Given the description of an element on the screen output the (x, y) to click on. 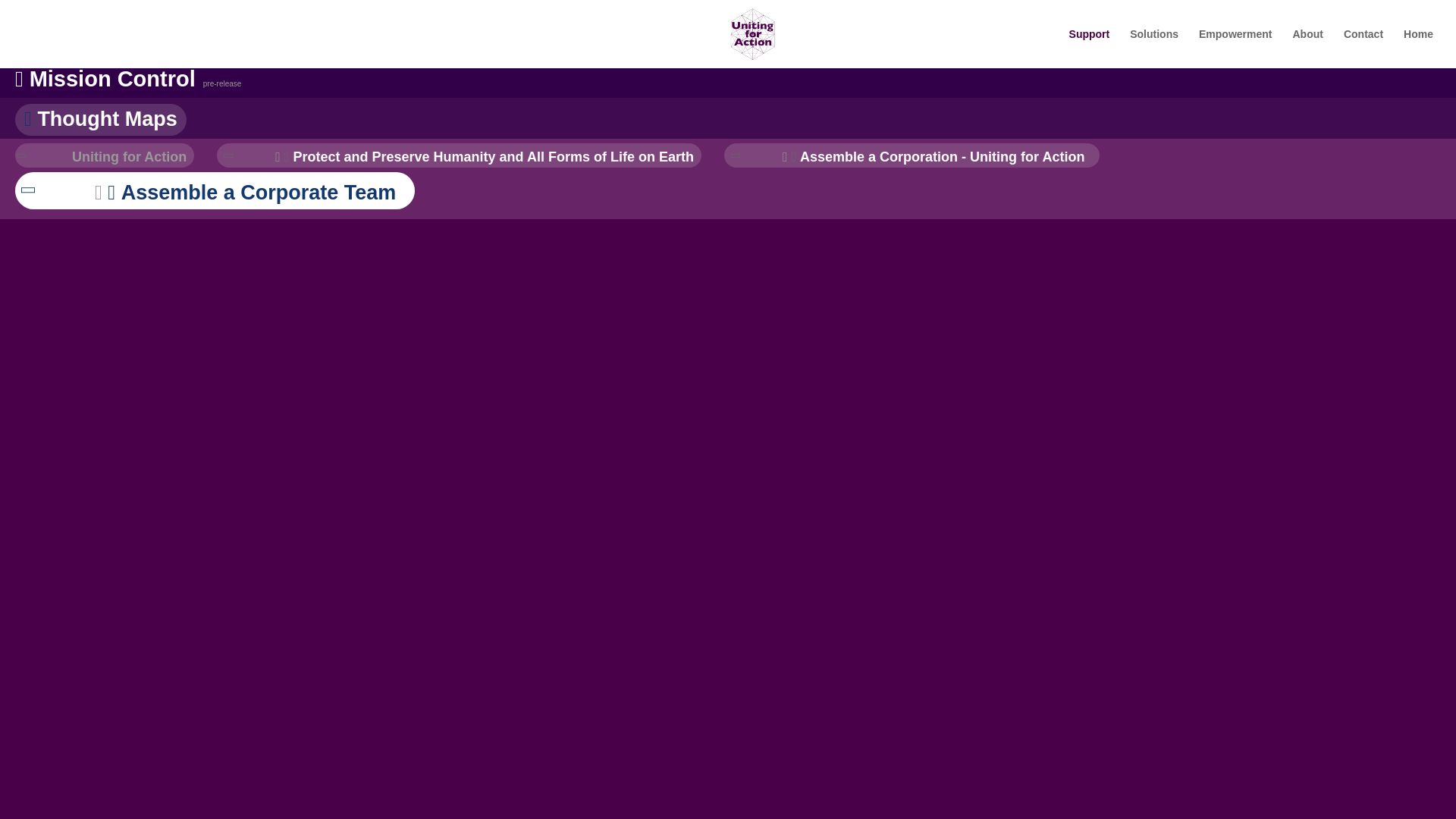
Assemble a Corporation - Uniting for Action   (945, 155)
Focus (492, 155)
Solutions (1153, 47)
Uniting for Action (128, 155)
Protect and Preserve Humanity and All Forms of Life on Earth (492, 155)
Empowerment (1234, 47)
Contact (1363, 47)
Support (1088, 47)
Uniting for Action (128, 155)
